Given the description of an element on the screen output the (x, y) to click on. 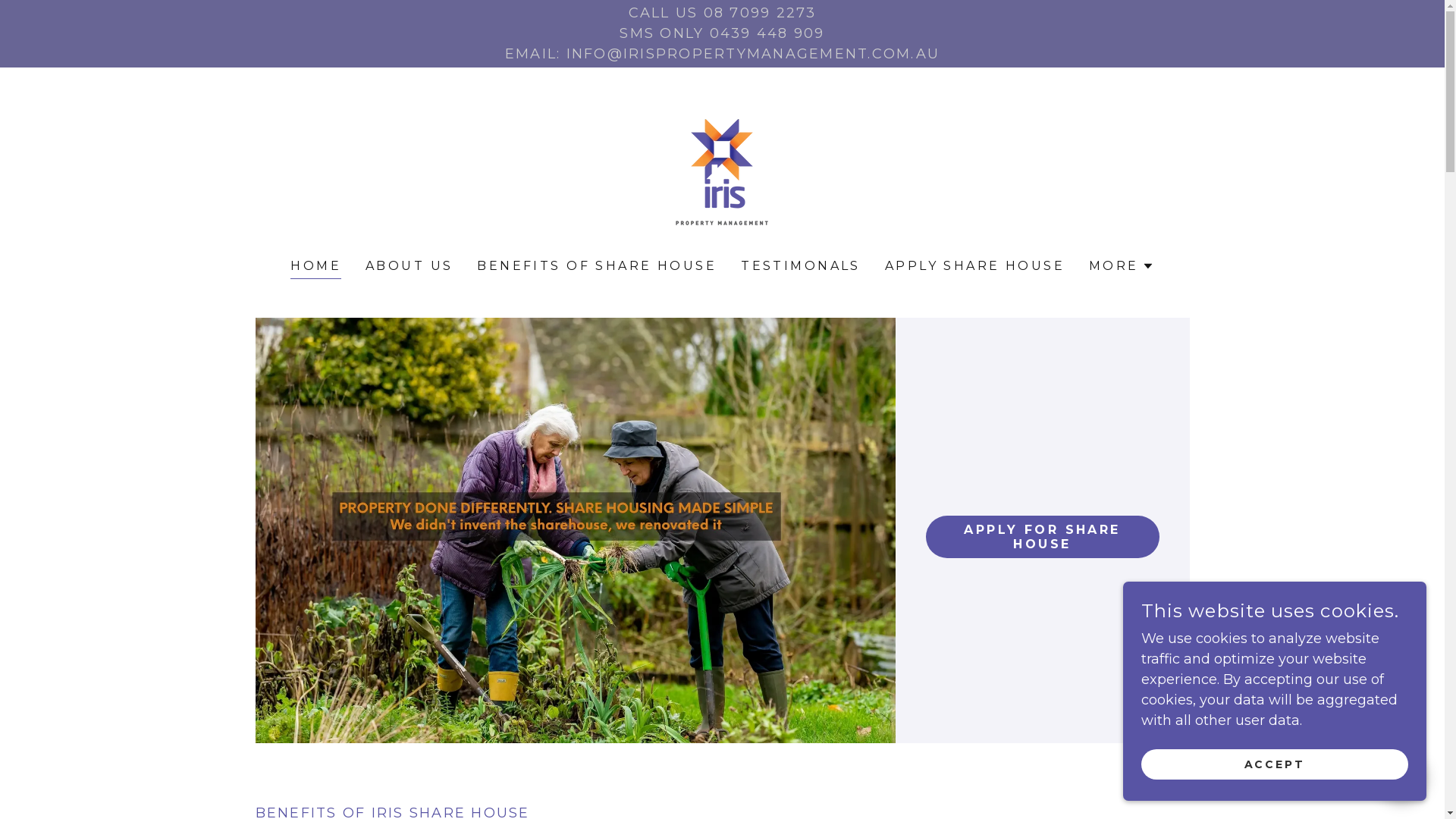
BENEFITS OF SHARE HOUSE Element type: text (596, 265)
ACCEPT Element type: text (1274, 764)
TESTIMONALS Element type: text (800, 265)
HOME Element type: text (315, 268)
MORE Element type: text (1121, 266)
ABOUT US Element type: text (408, 265)
Iris Property  Element type: hover (721, 173)
APPLY SHARE HOUSE Element type: text (974, 265)
APPLY FOR SHARE HOUSE Element type: text (1041, 536)
